Given the description of an element on the screen output the (x, y) to click on. 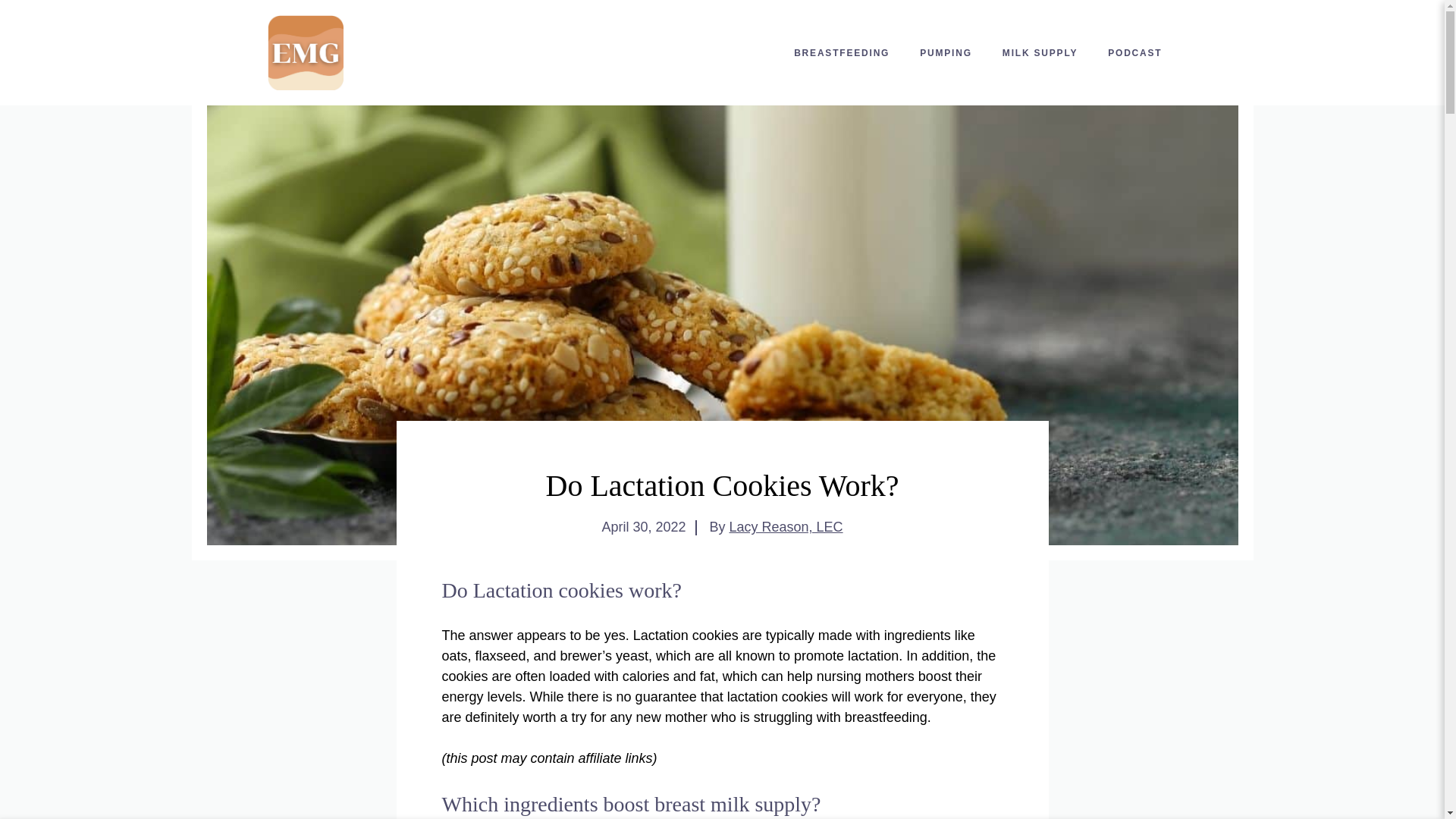
PUMPING (945, 53)
BREASTFEEDING (841, 53)
Lacy Reason, LEC (786, 526)
PODCAST (1134, 53)
MILK SUPPLY (1040, 53)
